Given the description of an element on the screen output the (x, y) to click on. 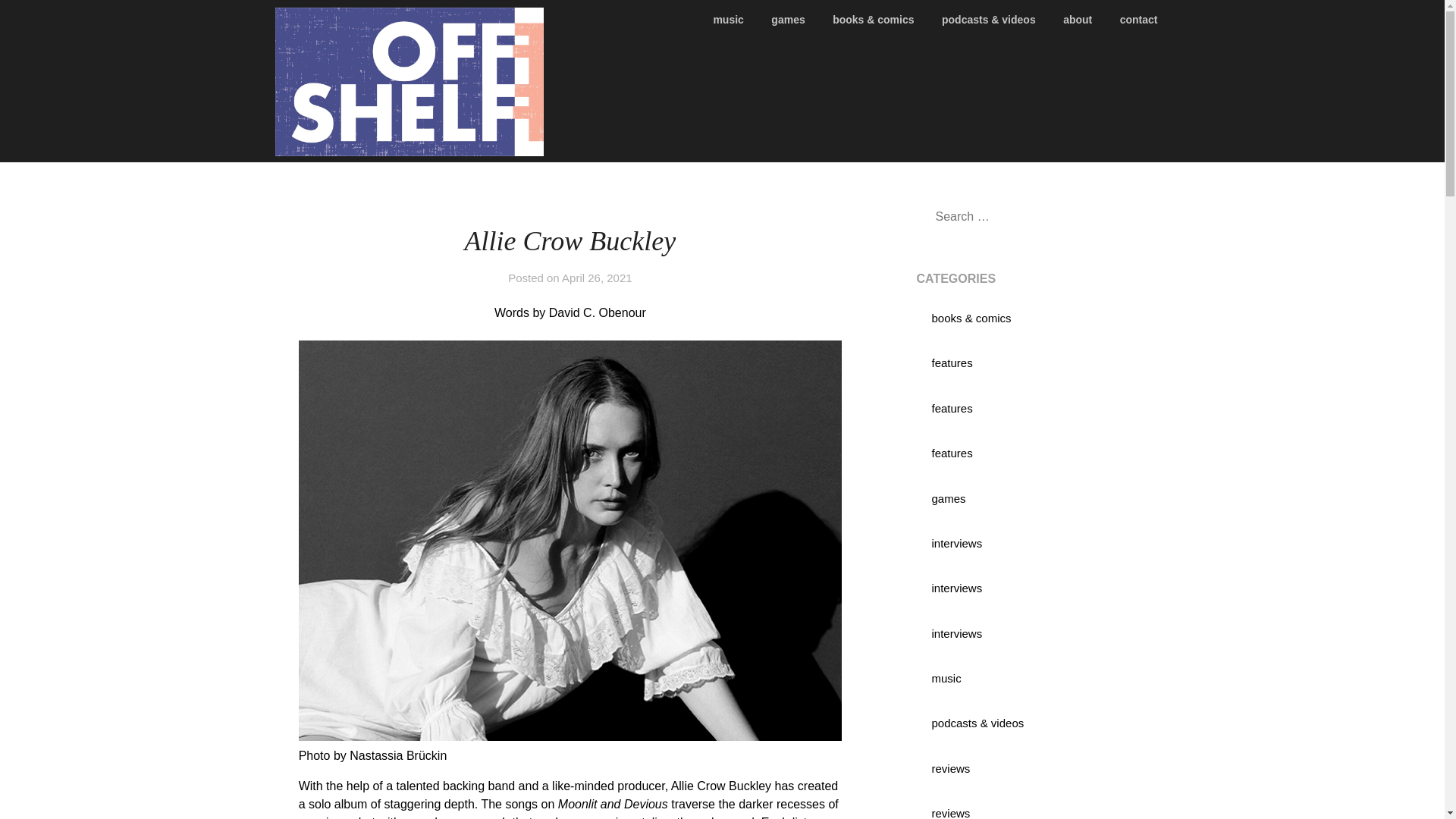
games (787, 20)
interviews (956, 543)
features (951, 452)
reviews (950, 768)
April 26, 2021 (596, 277)
Search (38, 22)
contact (1139, 20)
about (1077, 20)
features (951, 408)
music (945, 677)
games (948, 498)
interviews (956, 587)
features (951, 362)
music (734, 20)
reviews (950, 812)
